Given the description of an element on the screen output the (x, y) to click on. 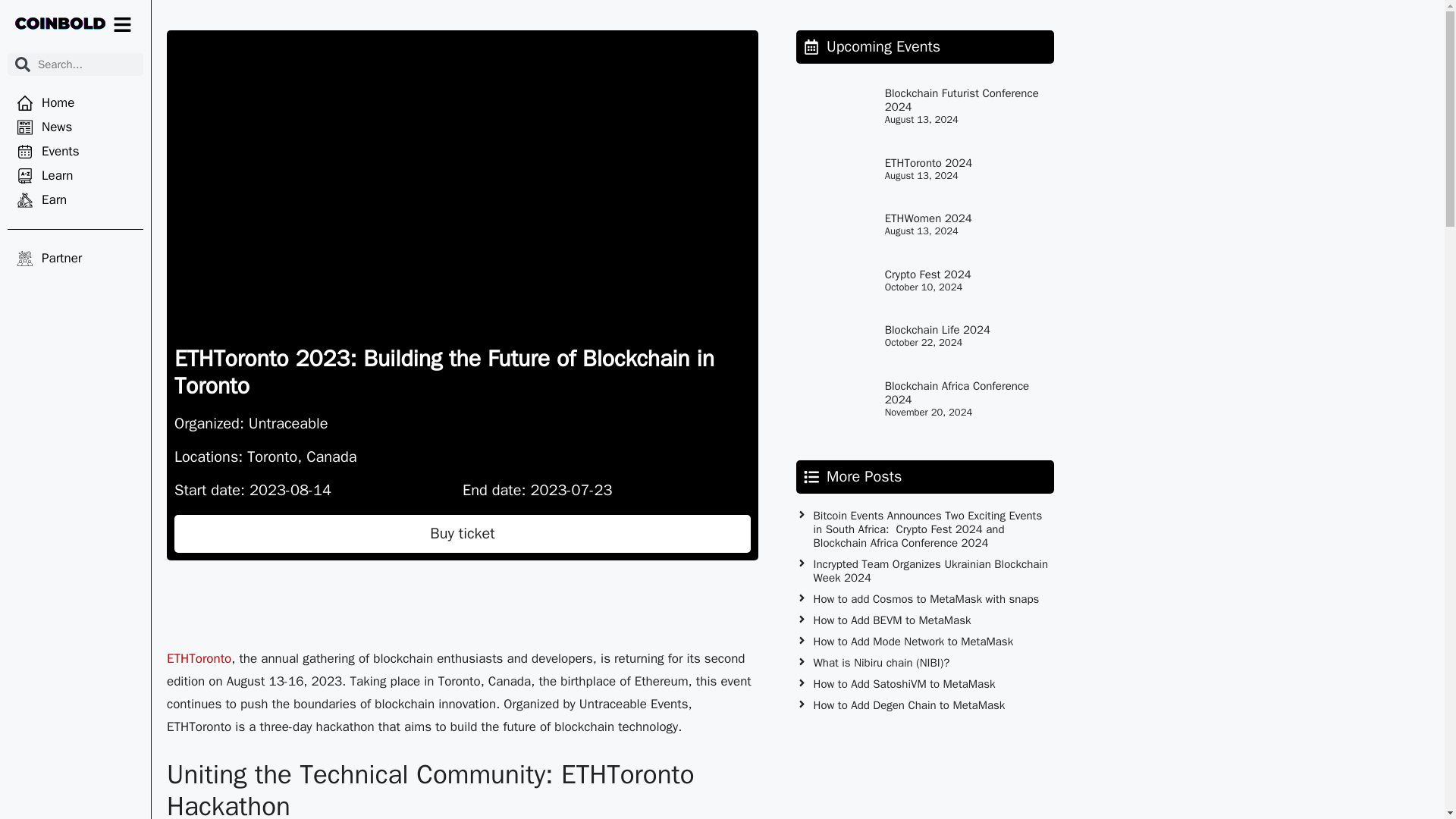
ETHWomen 2024 (928, 218)
Blockchain Life 2024 (937, 329)
Partner (74, 258)
How to add Cosmos to MetaMask with snaps (925, 599)
How to Add BEVM to MetaMask (891, 620)
News (74, 127)
Earn (74, 200)
Home (74, 102)
Learn (74, 175)
Crypto Fest 2024 (928, 274)
ETHToronto (199, 658)
Blockchain Futurist Conference 2024 (962, 99)
ETHToronto 2024 (928, 162)
Events (74, 151)
